Given the description of an element on the screen output the (x, y) to click on. 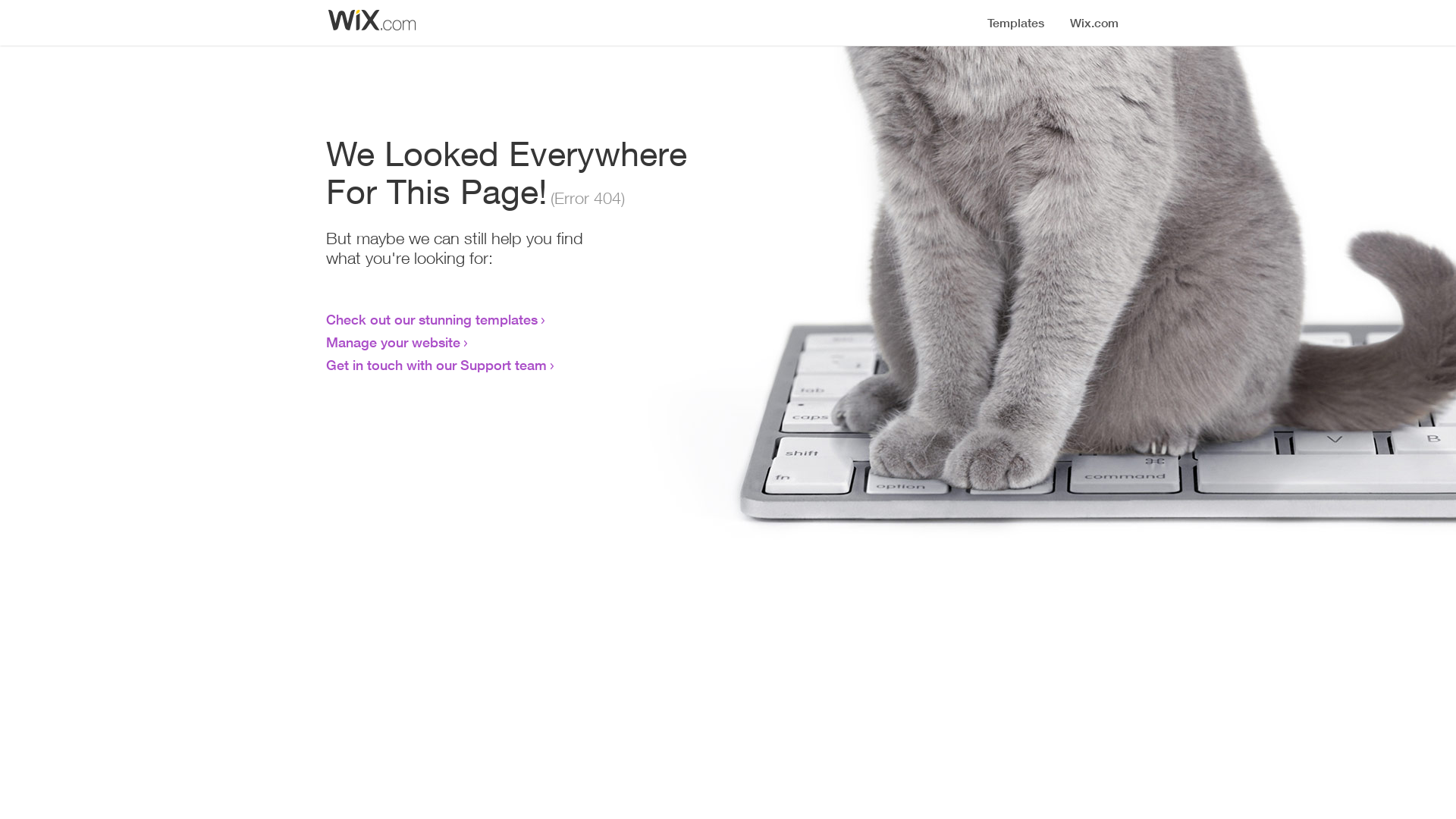
Manage your website Element type: text (393, 341)
Get in touch with our Support team Element type: text (436, 364)
Check out our stunning templates Element type: text (431, 318)
